Given the description of an element on the screen output the (x, y) to click on. 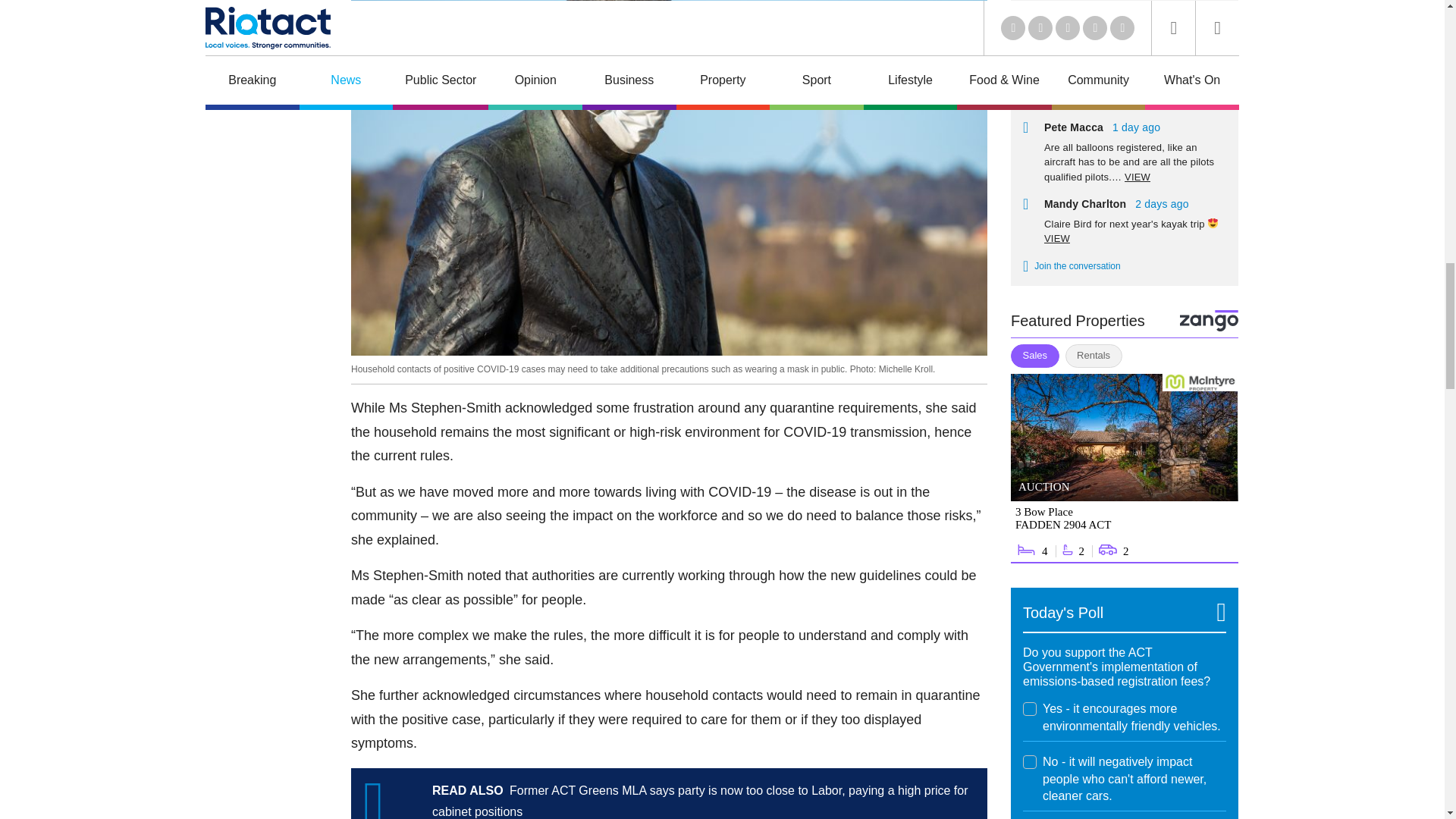
Zango (1209, 320)
2041 (1029, 708)
2042 (1029, 762)
Zango Sales (1124, 468)
